Given the description of an element on the screen output the (x, y) to click on. 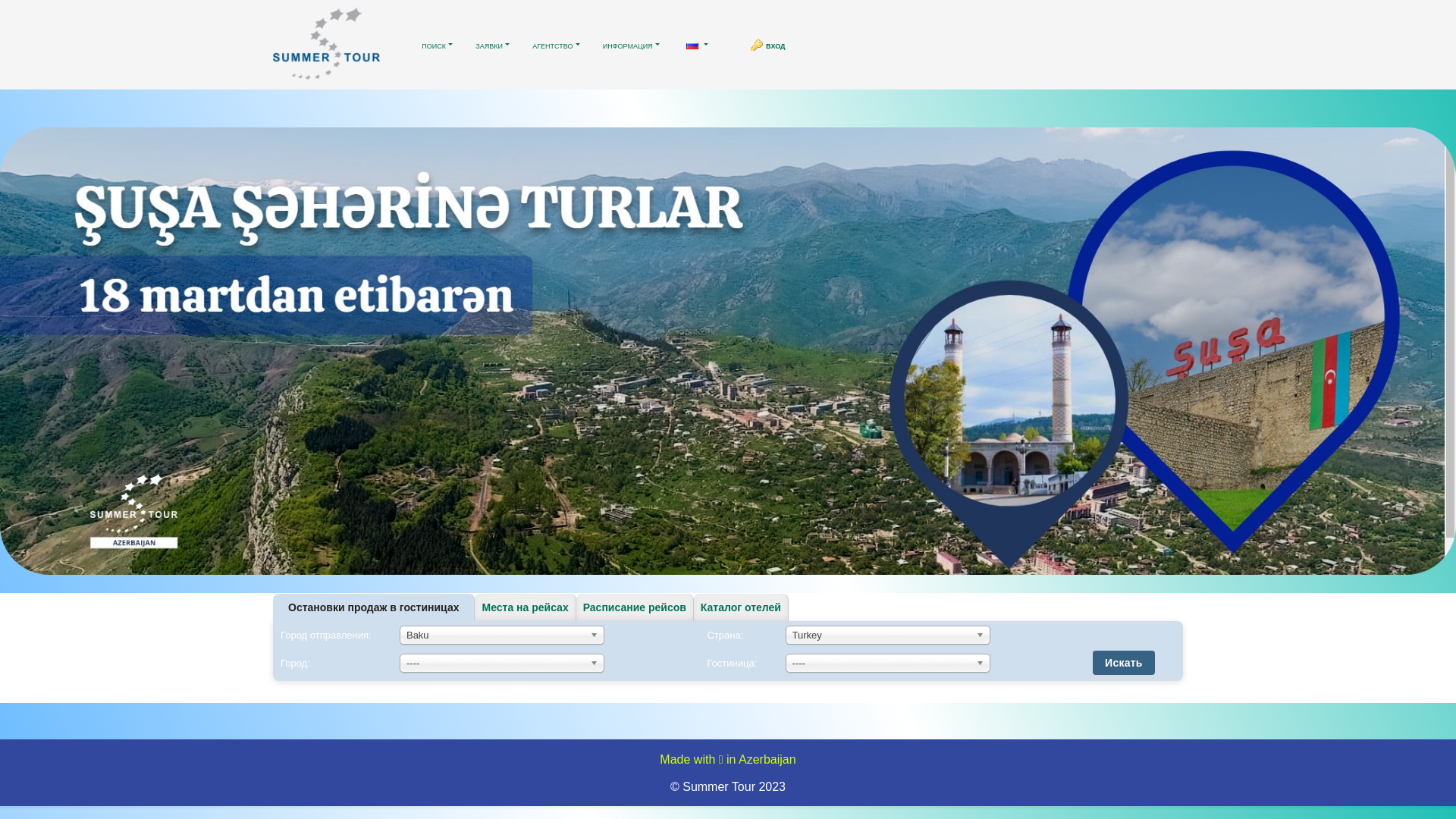
---- Element type: text (501, 662)
Turkey Element type: text (887, 634)
Baku Element type: text (501, 634)
---- Element type: text (887, 662)
